Given the description of an element on the screen output the (x, y) to click on. 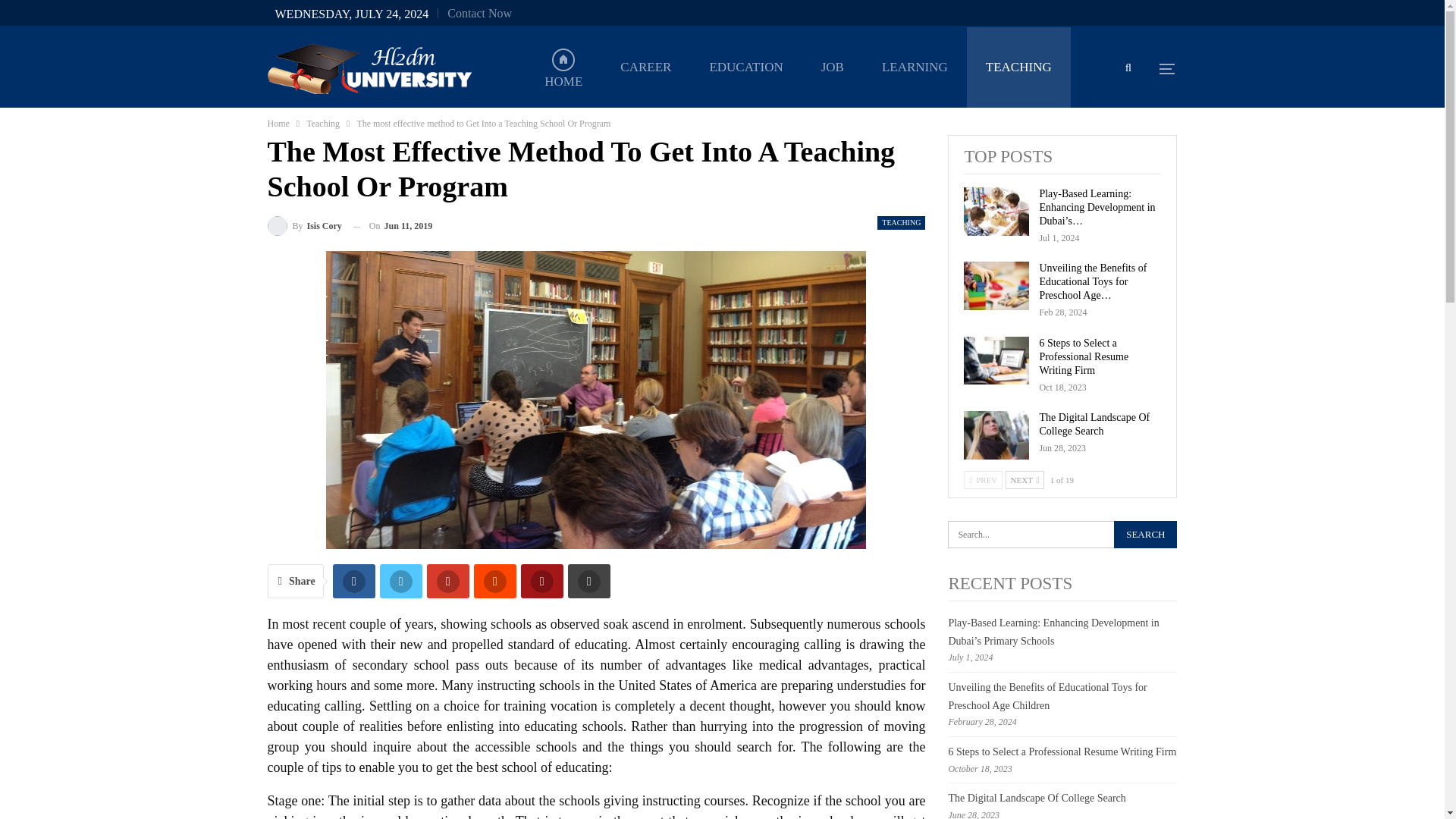
By Isis Cory (303, 225)
EDUCATION (746, 67)
Search (1144, 533)
HOME (563, 67)
Search (1144, 533)
TEACHING (900, 223)
UNIVERSITY (847, 147)
TEACHING (1018, 67)
Browse Author Articles (303, 225)
Contact Now (479, 12)
Home (277, 123)
Teaching (322, 123)
CAREER (645, 67)
TRAINING (740, 147)
LEARNING (914, 67)
